Given the description of an element on the screen output the (x, y) to click on. 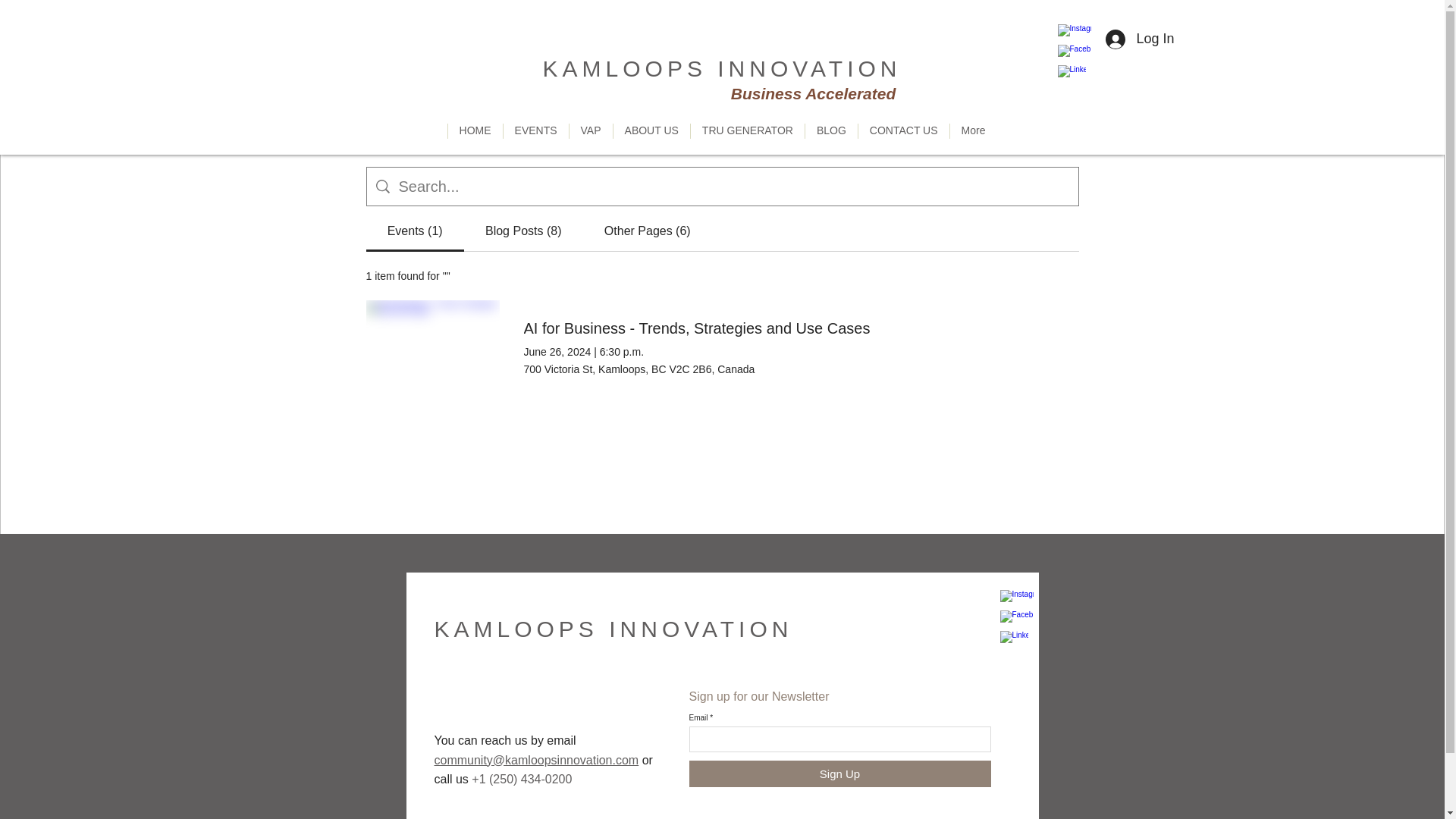
VAP (590, 138)
AI for Business - Trends, Strategies and Use Cases (695, 328)
ABOUT US (651, 138)
EVENTS (535, 138)
HOME (474, 138)
Log In (1139, 39)
AI for Business - Trends, Strategies and Use Cases (432, 346)
CONTACT US (903, 138)
TRU GENERATOR (747, 138)
Sign Up (839, 773)
